Given the description of an element on the screen output the (x, y) to click on. 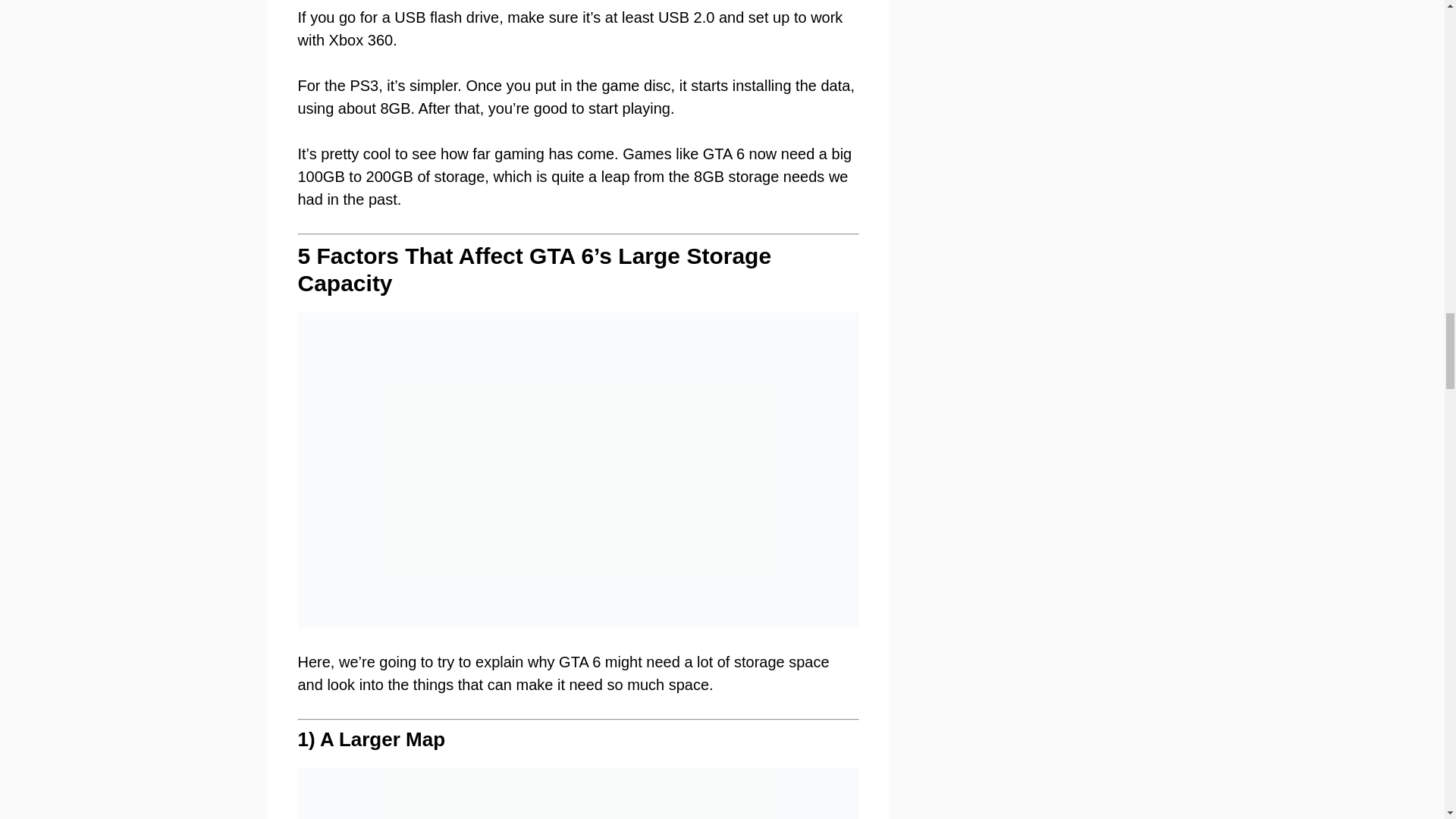
GTA 6 File Size: How Much Storage Does Gta 6 Need? (578, 793)
